Given the description of an element on the screen output the (x, y) to click on. 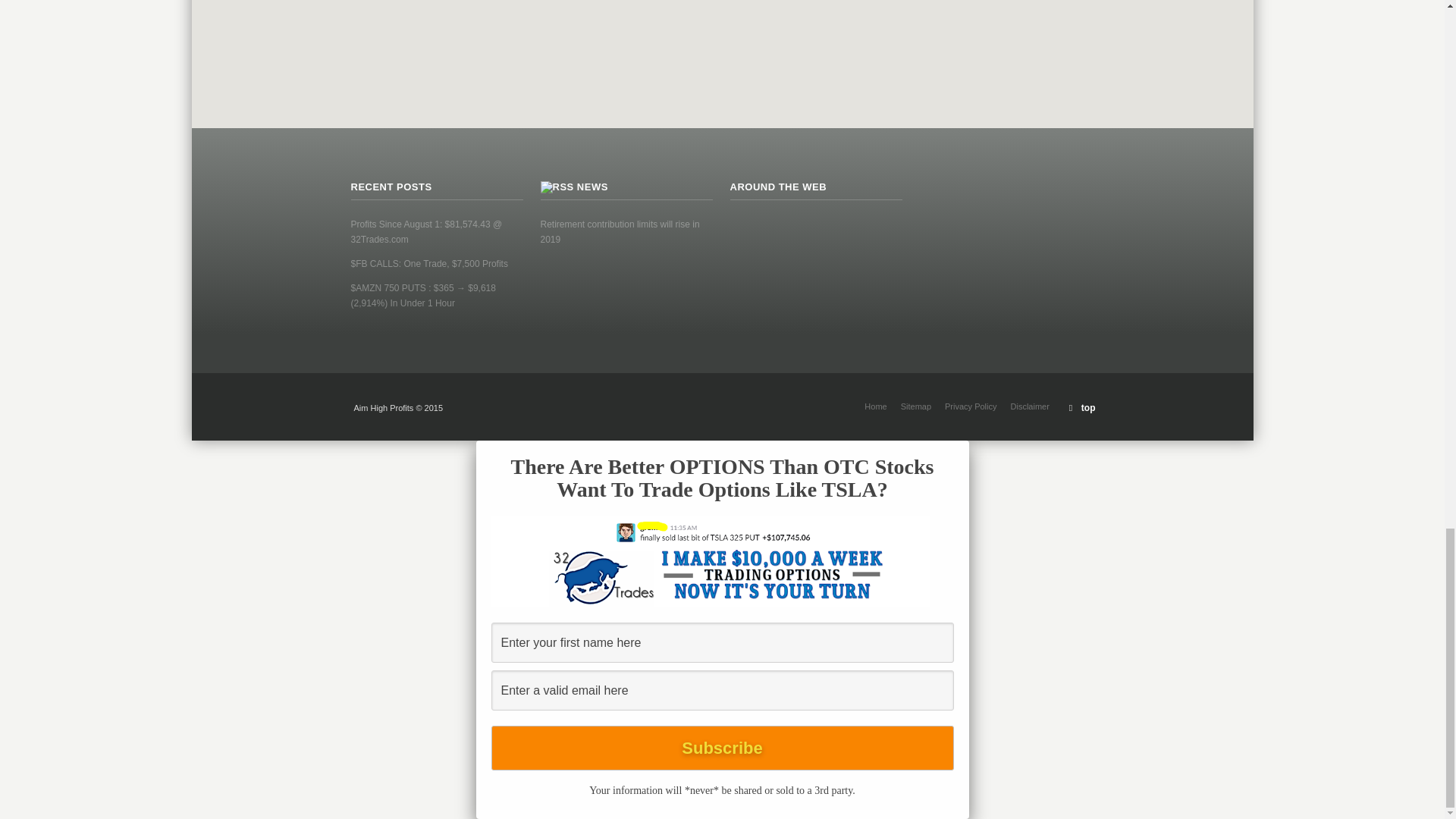
Subscribe (722, 747)
